Given the description of an element on the screen output the (x, y) to click on. 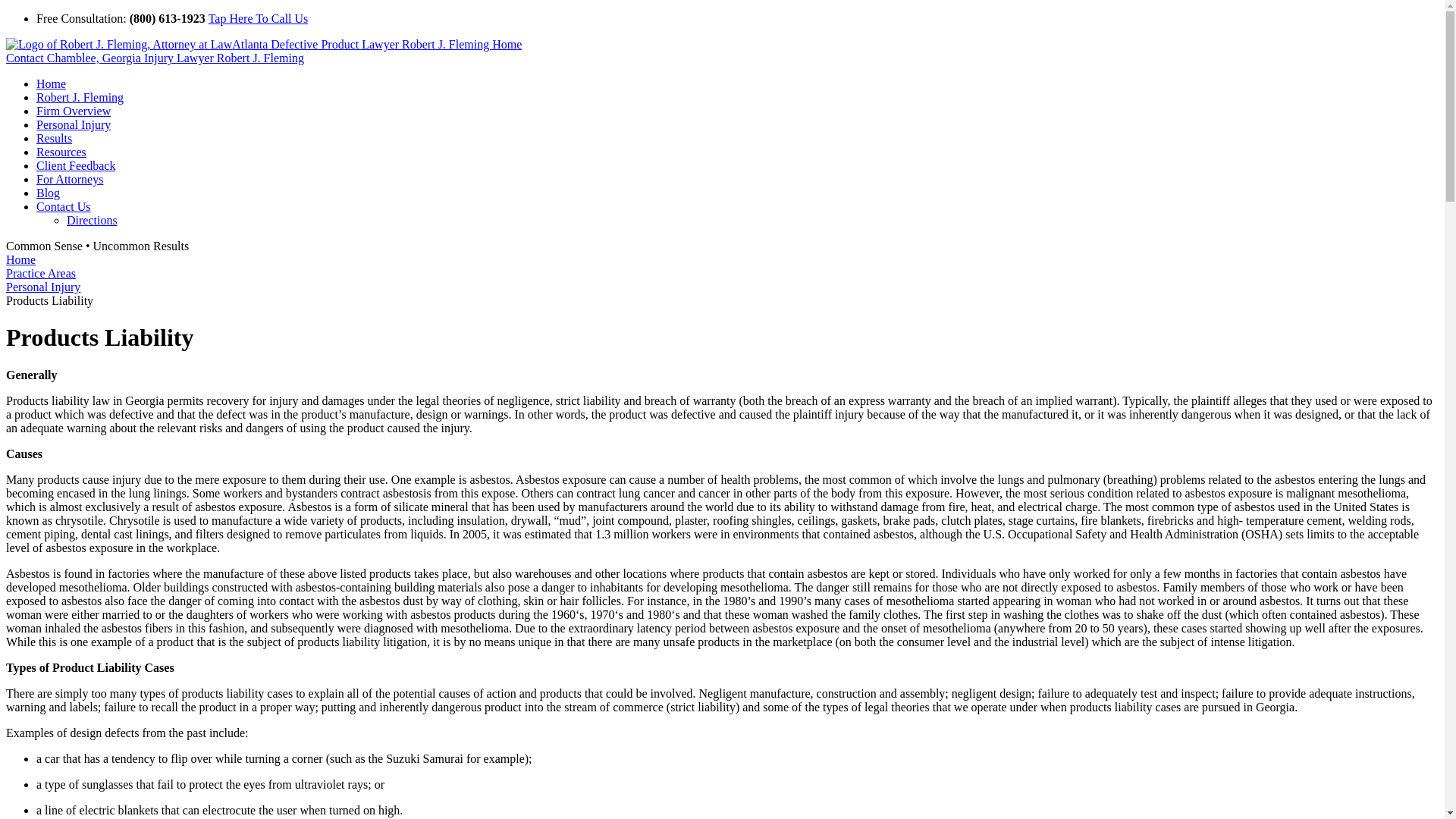
Tap Here To Call Us (258, 18)
Contact Us (63, 205)
Blog (47, 192)
Directions (91, 219)
Home (19, 259)
Firm Overview (73, 110)
Client Feedback (75, 164)
Back to Home (263, 43)
Personal Injury (73, 124)
Home (50, 83)
